Given the description of an element on the screen output the (x, y) to click on. 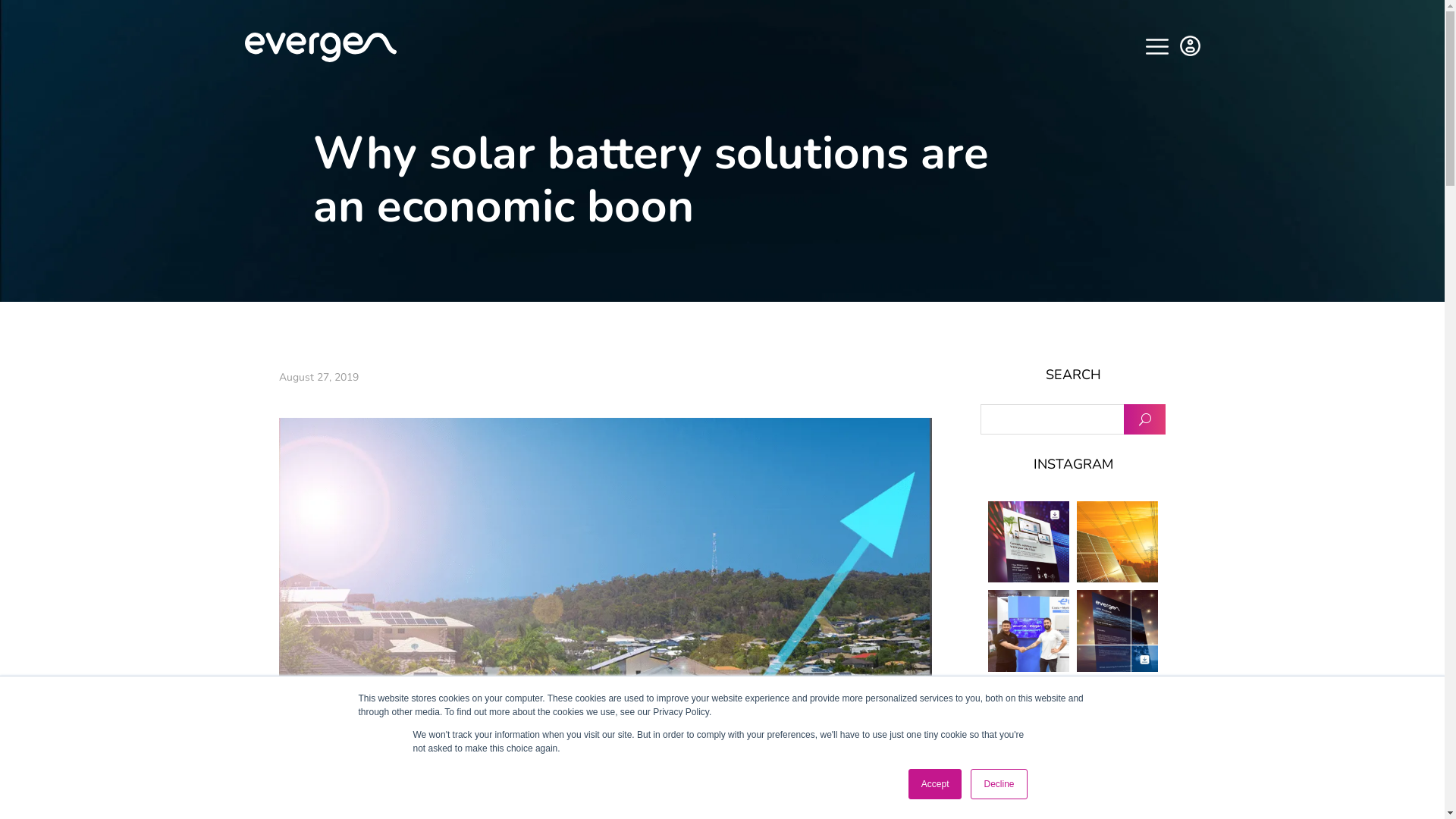
Accept Element type: text (935, 783)
Decline Element type: text (998, 783)
Search Element type: text (1144, 419)
logo_top Element type: hover (319, 47)
